Given the description of an element on the screen output the (x, y) to click on. 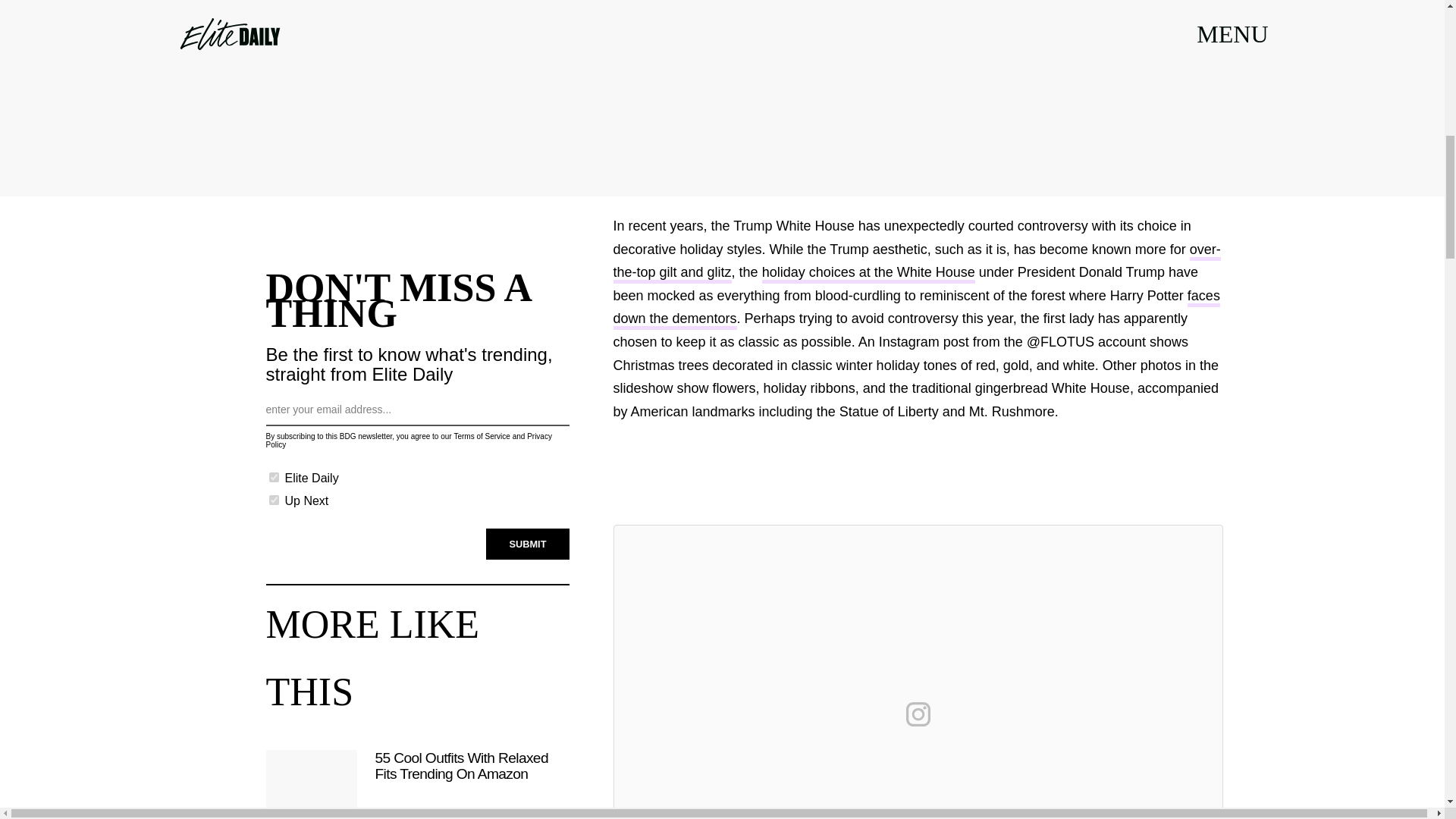
Privacy Policy (407, 440)
SUBMIT (527, 544)
faces down the dementors (916, 309)
holiday choices at the White House (868, 273)
over-the-top gilt and glitz (916, 262)
Terms of Service (480, 436)
View on Instagram (917, 714)
